Given the description of an element on the screen output the (x, y) to click on. 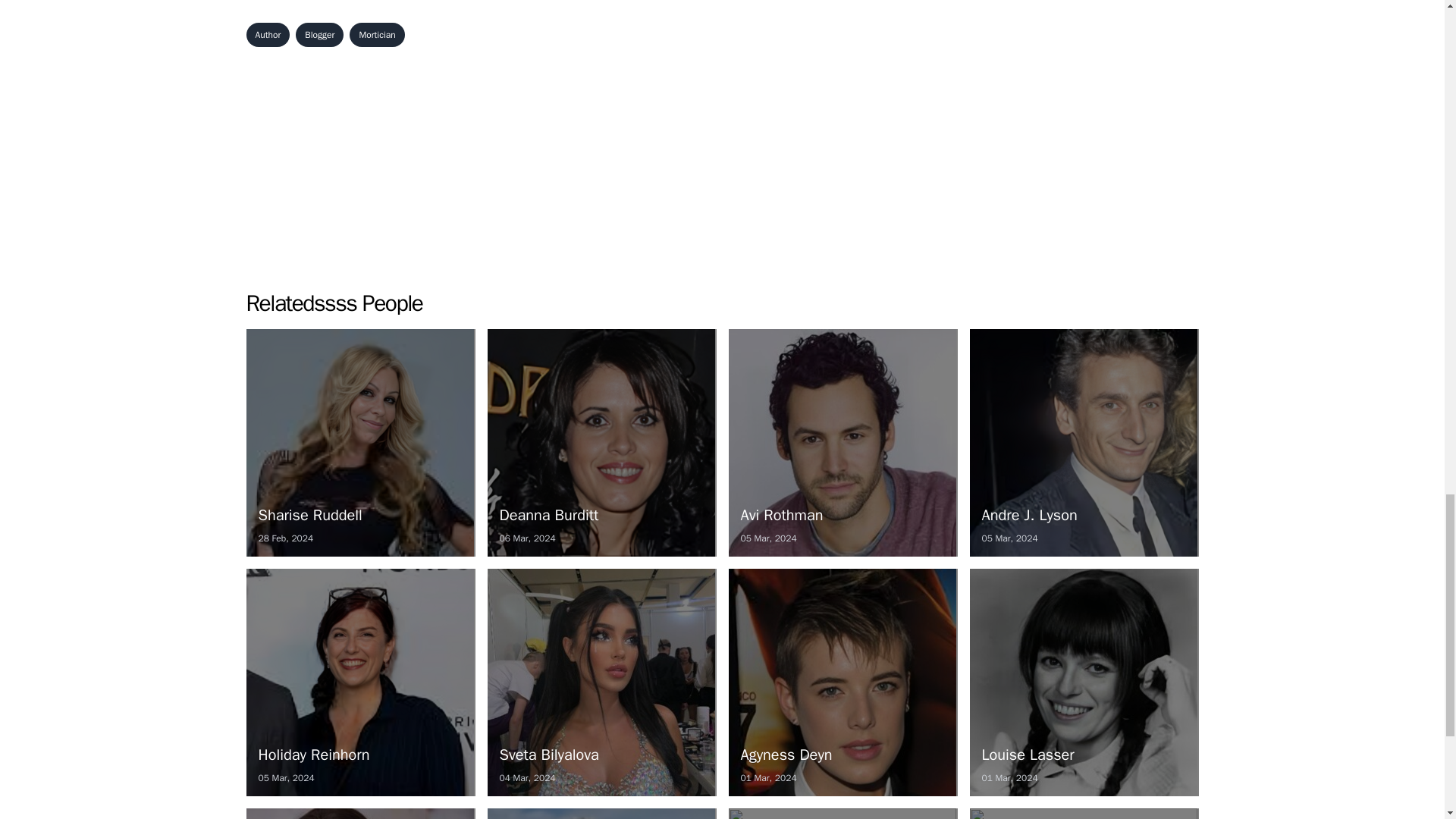
Author (267, 34)
Mortician (601, 682)
Blogger (360, 442)
